Given the description of an element on the screen output the (x, y) to click on. 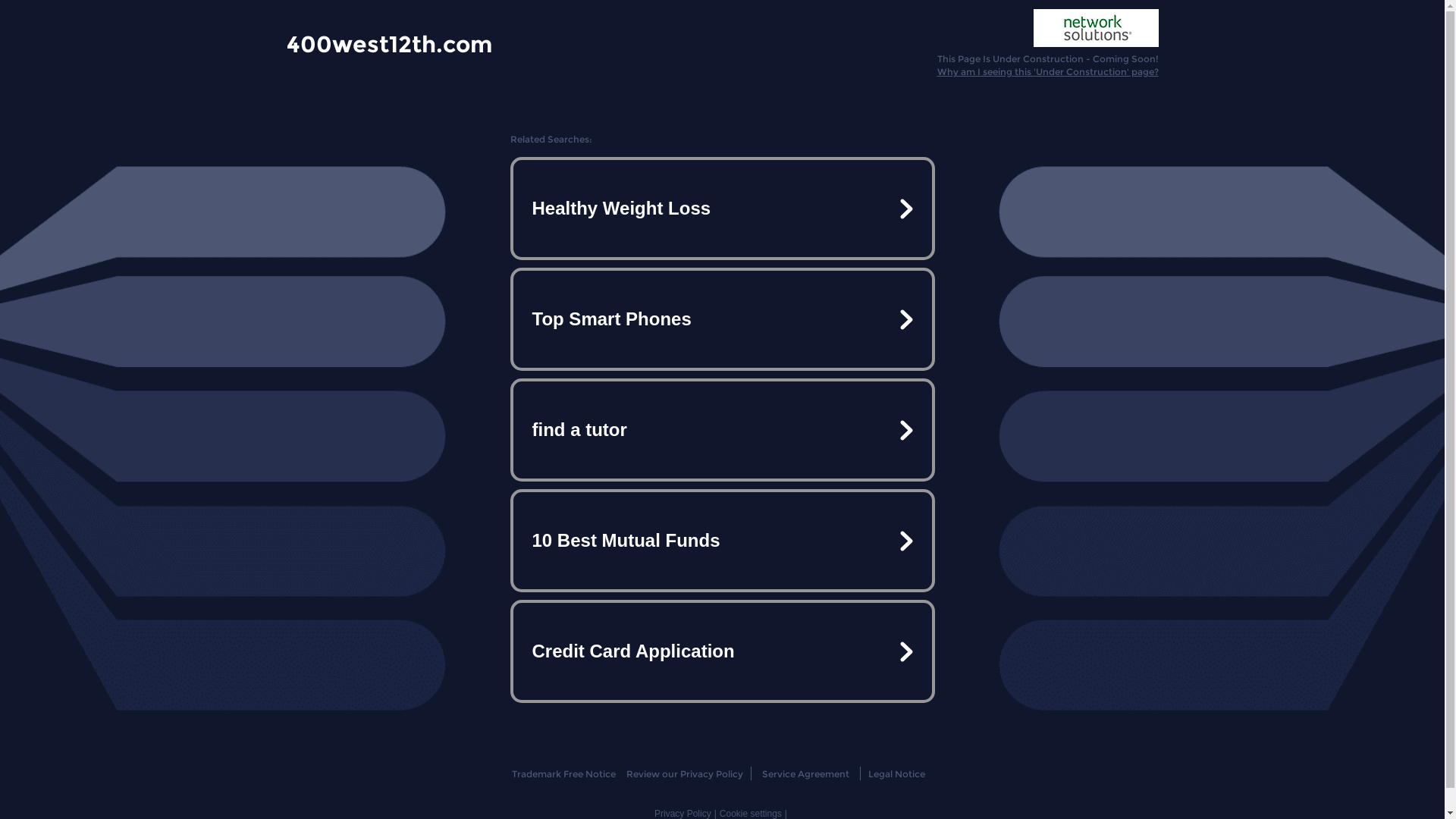
10 Best Mutual Funds Element type: text (721, 540)
Trademark Free Notice Element type: text (563, 773)
Healthy Weight Loss Element type: text (721, 208)
400west12th.com Element type: text (389, 43)
Top Smart Phones Element type: text (721, 318)
Why am I seeing this 'Under Construction' page? Element type: text (1047, 71)
Credit Card Application Element type: text (721, 650)
Review our Privacy Policy Element type: text (684, 773)
Service Agreement Element type: text (805, 773)
find a tutor Element type: text (721, 429)
Legal Notice Element type: text (896, 773)
